Given the description of an element on the screen output the (x, y) to click on. 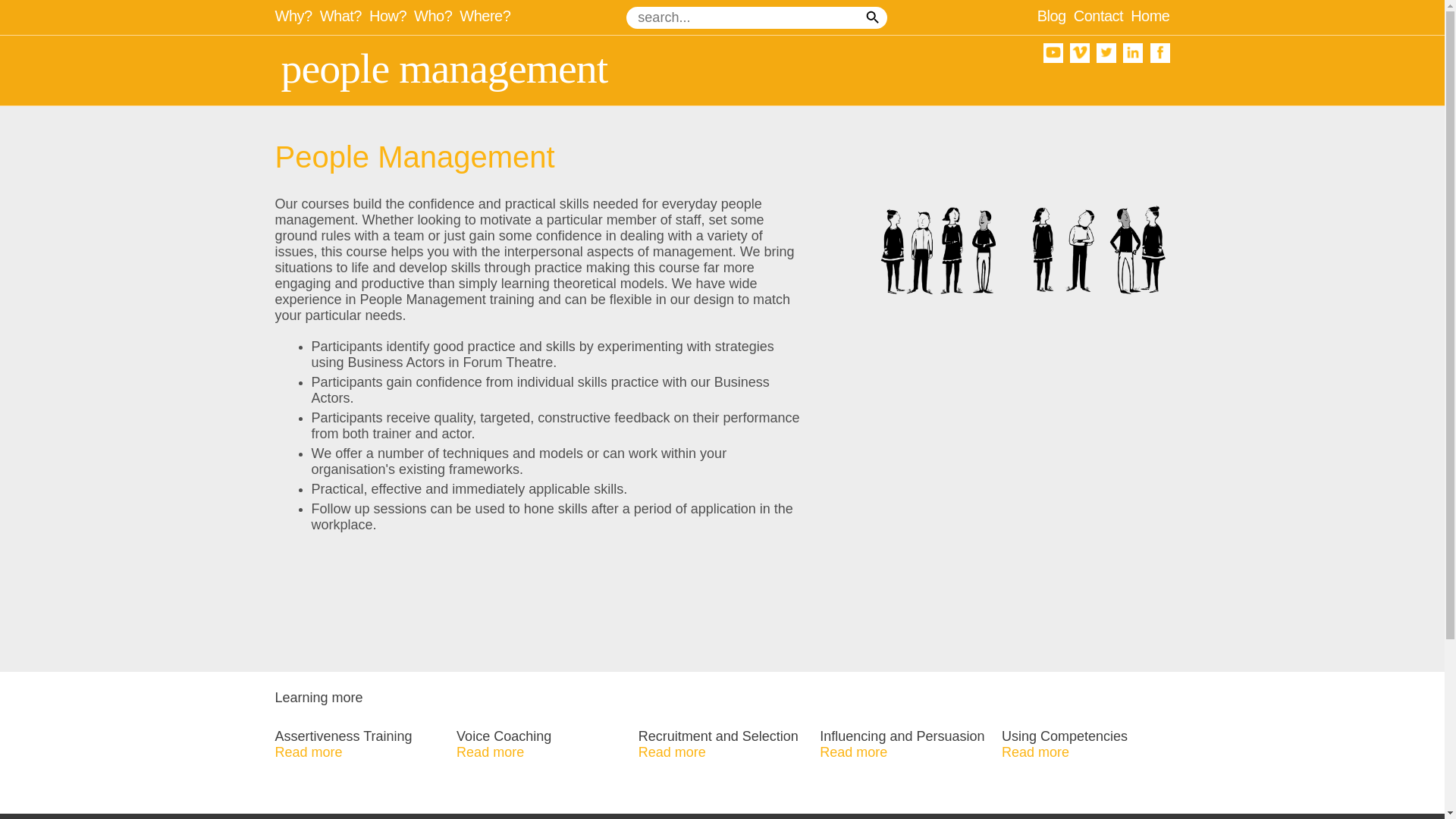
Read more (308, 752)
Contact (1102, 16)
Who? (436, 16)
Read more (852, 752)
What? (344, 16)
Read more (490, 752)
Read more (672, 752)
Blog (1055, 16)
Why? (296, 16)
Home (1150, 16)
Read more (1034, 752)
How? (391, 16)
Where? (485, 16)
